Given the description of an element on the screen output the (x, y) to click on. 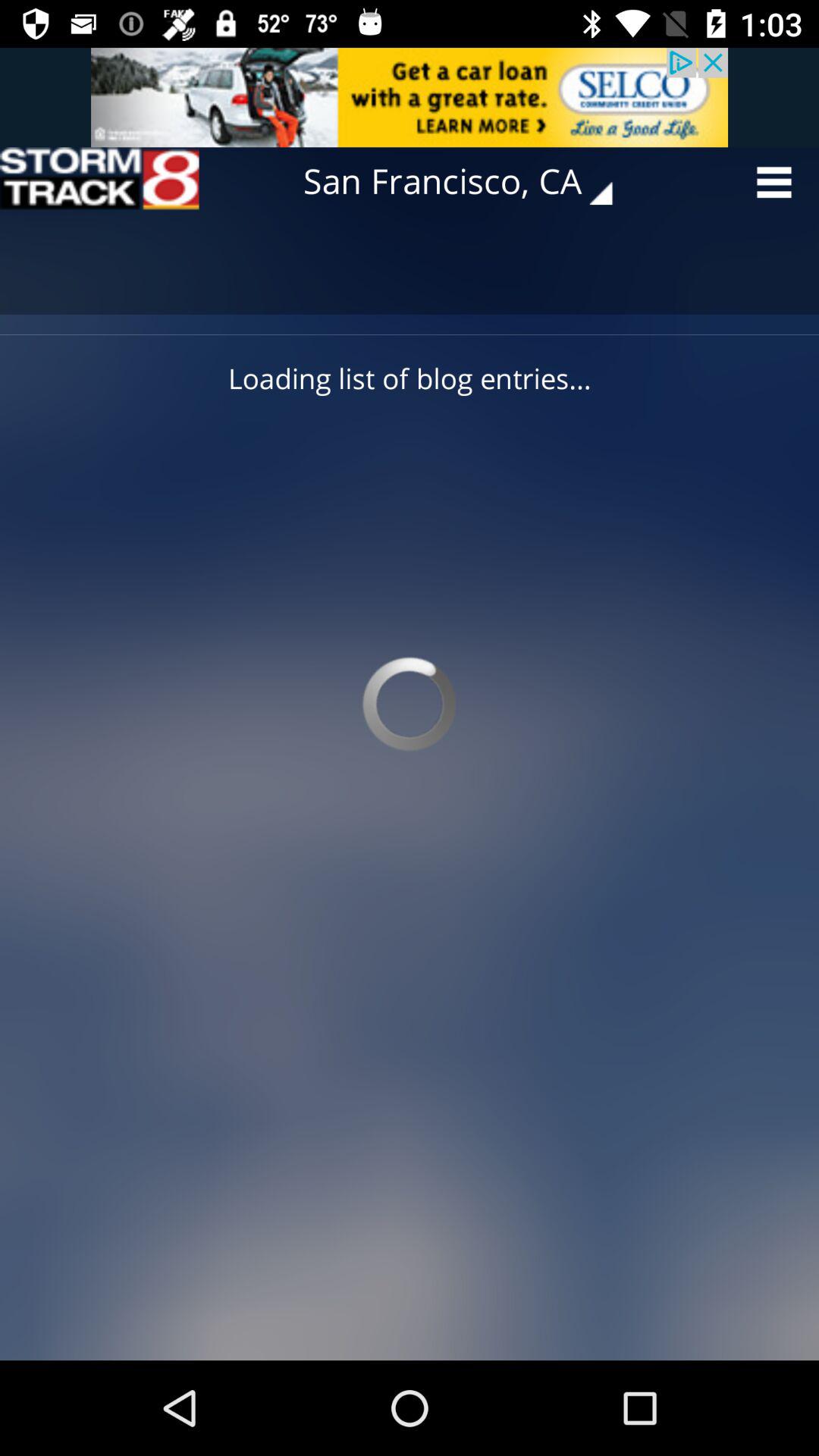
adding advertisement (409, 97)
